Given the description of an element on the screen output the (x, y) to click on. 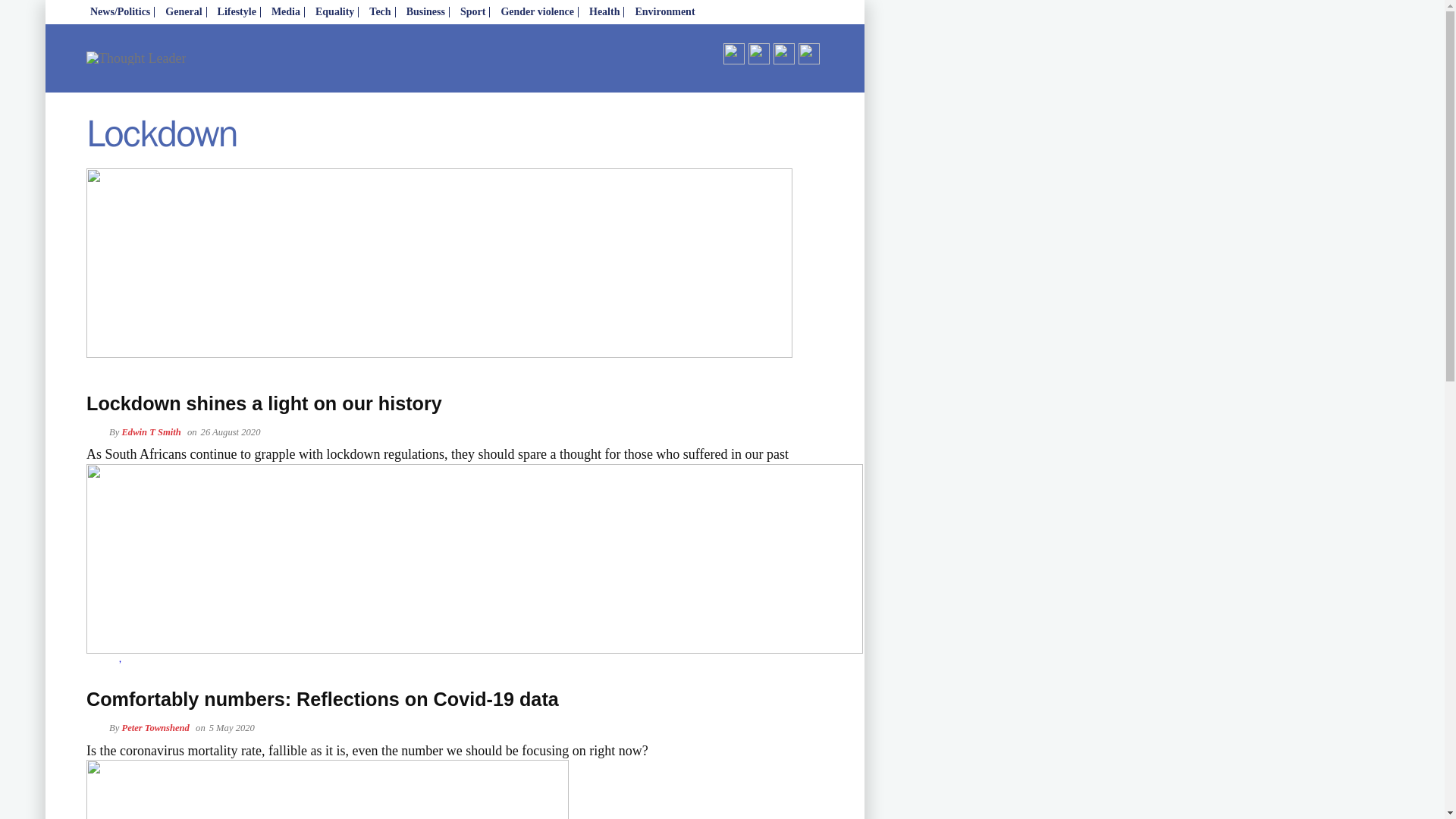
Environment (664, 11)
Gender violence (537, 11)
Business (425, 11)
Equality (334, 11)
Thought Leader (221, 77)
Health (604, 11)
Lifestyle (237, 11)
Tech (379, 11)
General (183, 11)
Media (285, 11)
Sport (473, 11)
